Given the description of an element on the screen output the (x, y) to click on. 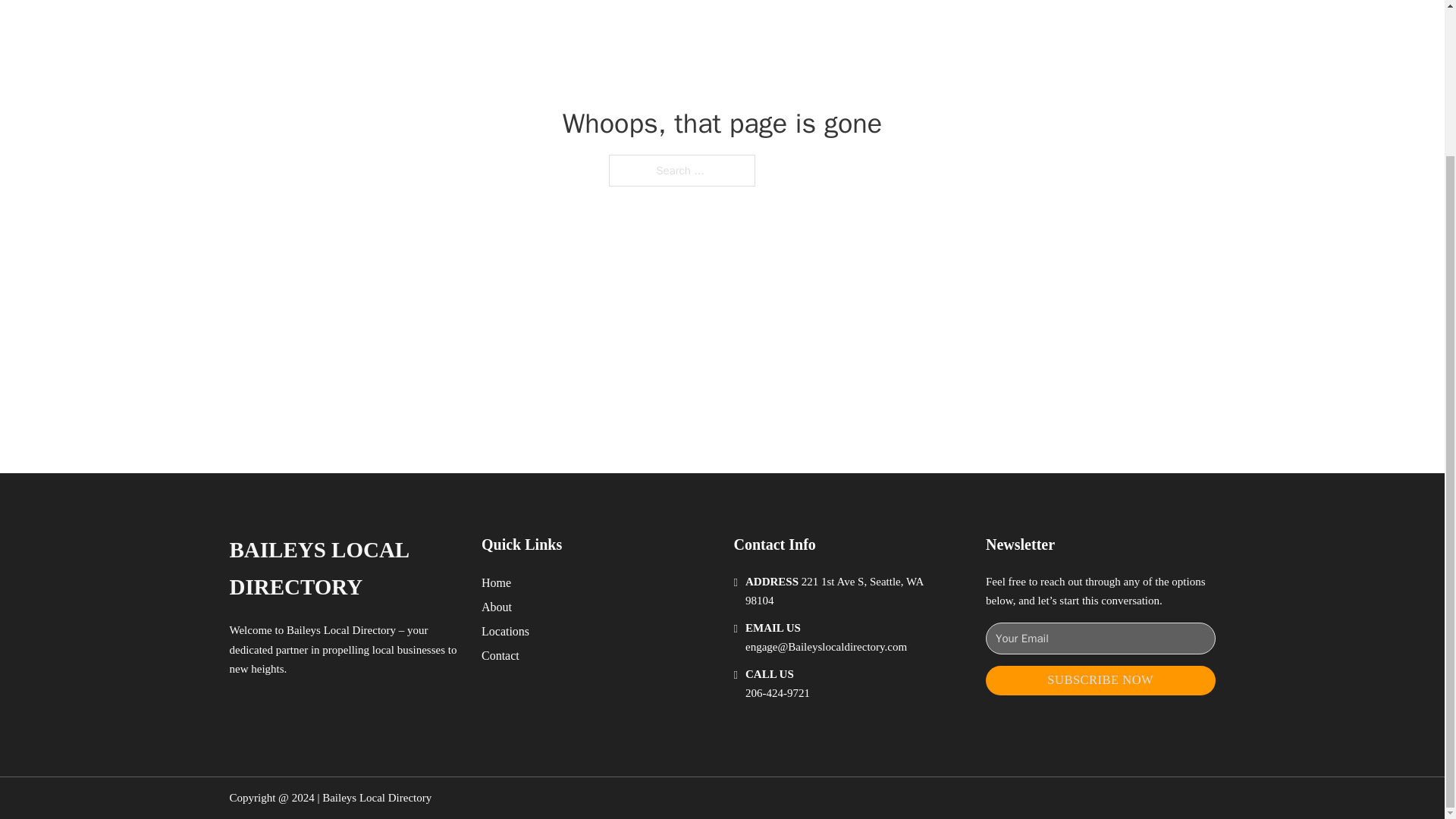
About (496, 607)
Home (496, 582)
Contact (500, 655)
206-424-9721 (777, 693)
SUBSCRIBE NOW (1100, 680)
BAILEYS LOCAL DIRECTORY (343, 568)
Locations (505, 630)
